Given the description of an element on the screen output the (x, y) to click on. 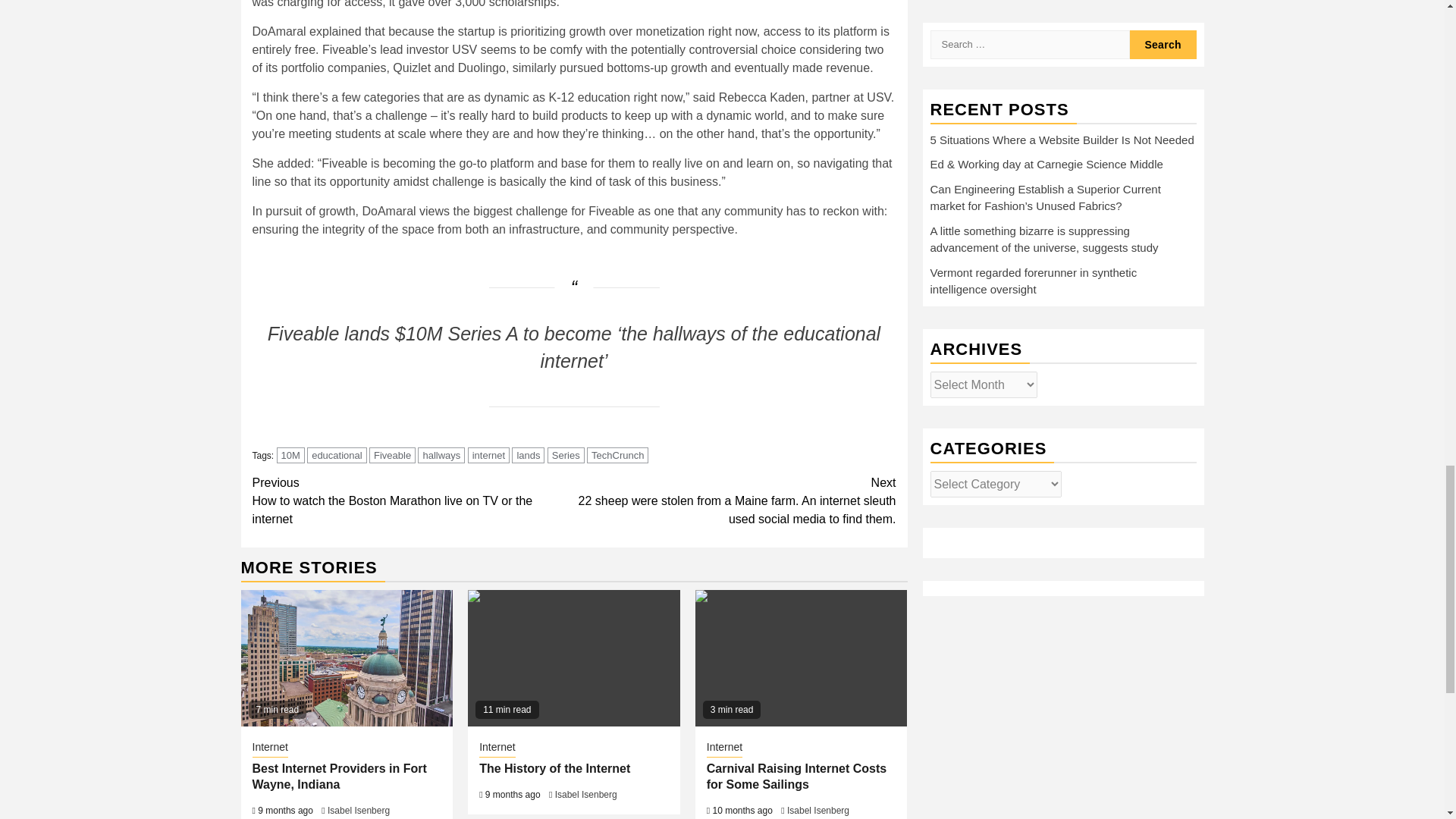
hallways (440, 455)
The History of the Internet (573, 657)
Internet (268, 748)
TechCrunch (616, 455)
Carnival Raising Internet Costs for Some Sailings (801, 657)
Best Internet Providers in Fort Wayne, Indiana (346, 657)
internet (488, 455)
educational (336, 455)
Series (566, 455)
Best Internet Providers in Fort Wayne, Indiana (338, 776)
Fiveable (391, 455)
lands (528, 455)
10M (290, 455)
